Given the description of an element on the screen output the (x, y) to click on. 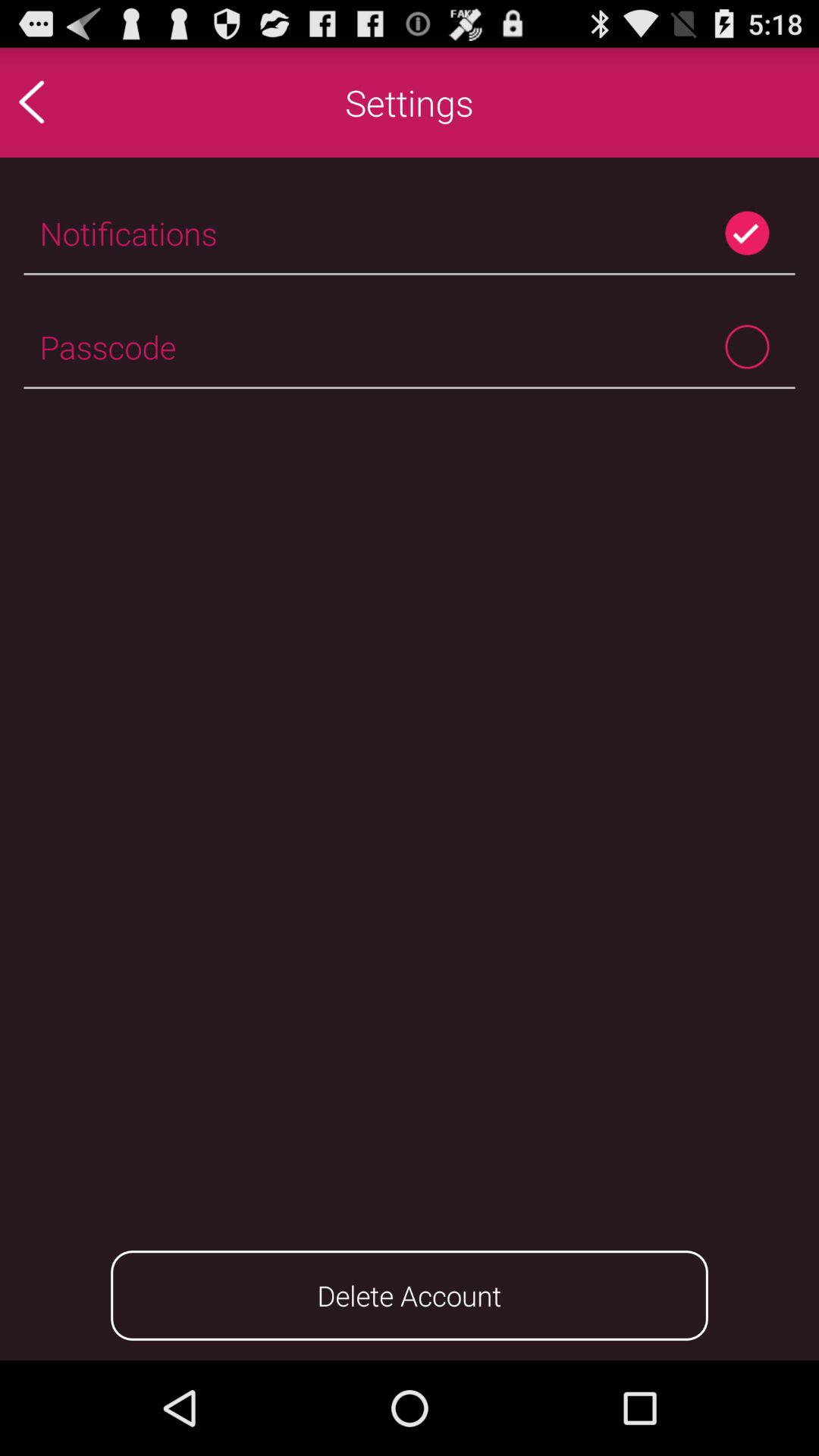
select the icon next to passcode icon (747, 346)
